Given the description of an element on the screen output the (x, y) to click on. 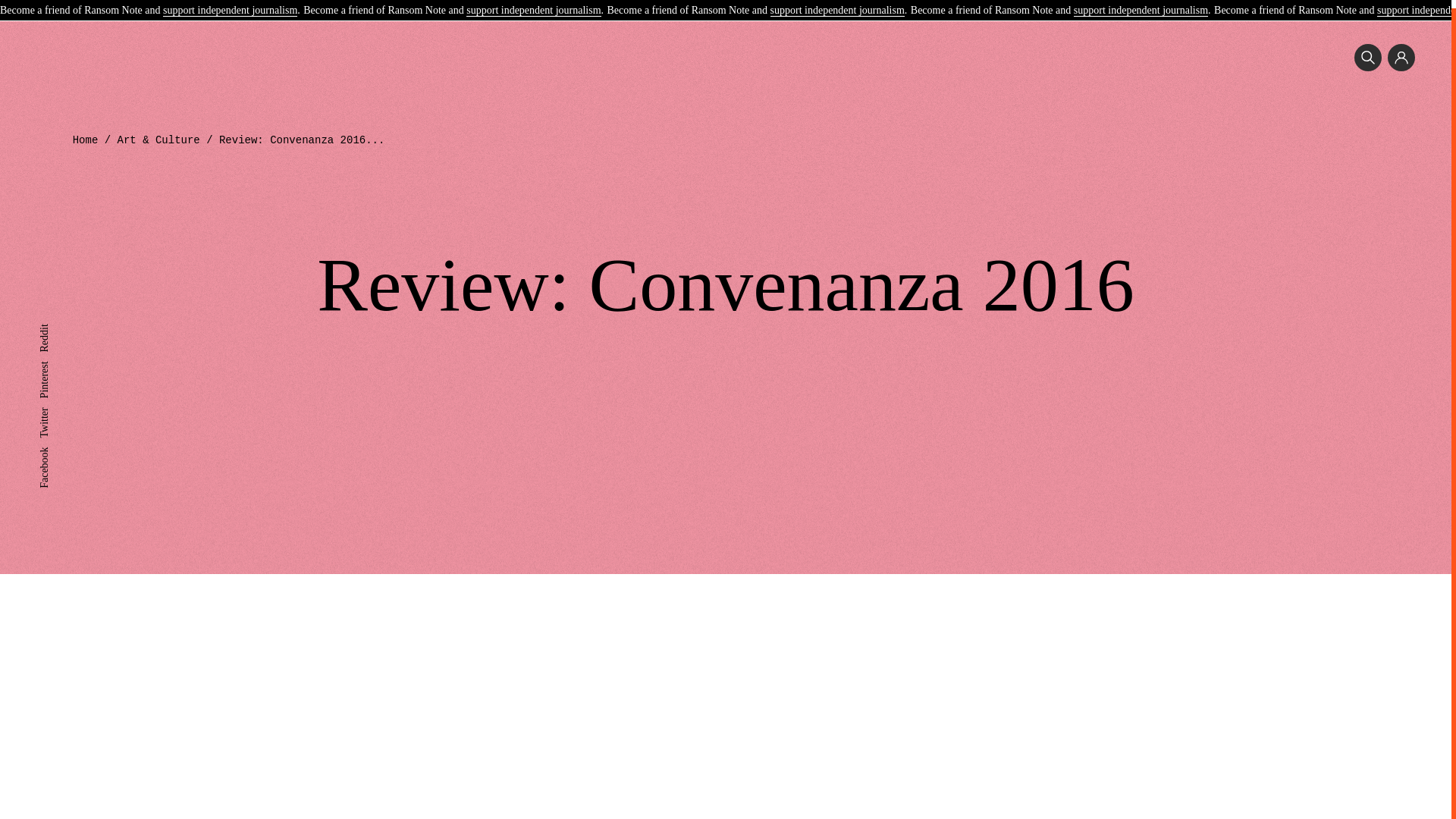
support independent journalism (1141, 4)
support independent journalism (837, 4)
support independent journalism (532, 4)
Twitter (53, 404)
support independent journalism (230, 4)
Reddit (52, 321)
Facebook (59, 444)
Home (85, 140)
Pinterest (57, 358)
